Given the description of an element on the screen output the (x, y) to click on. 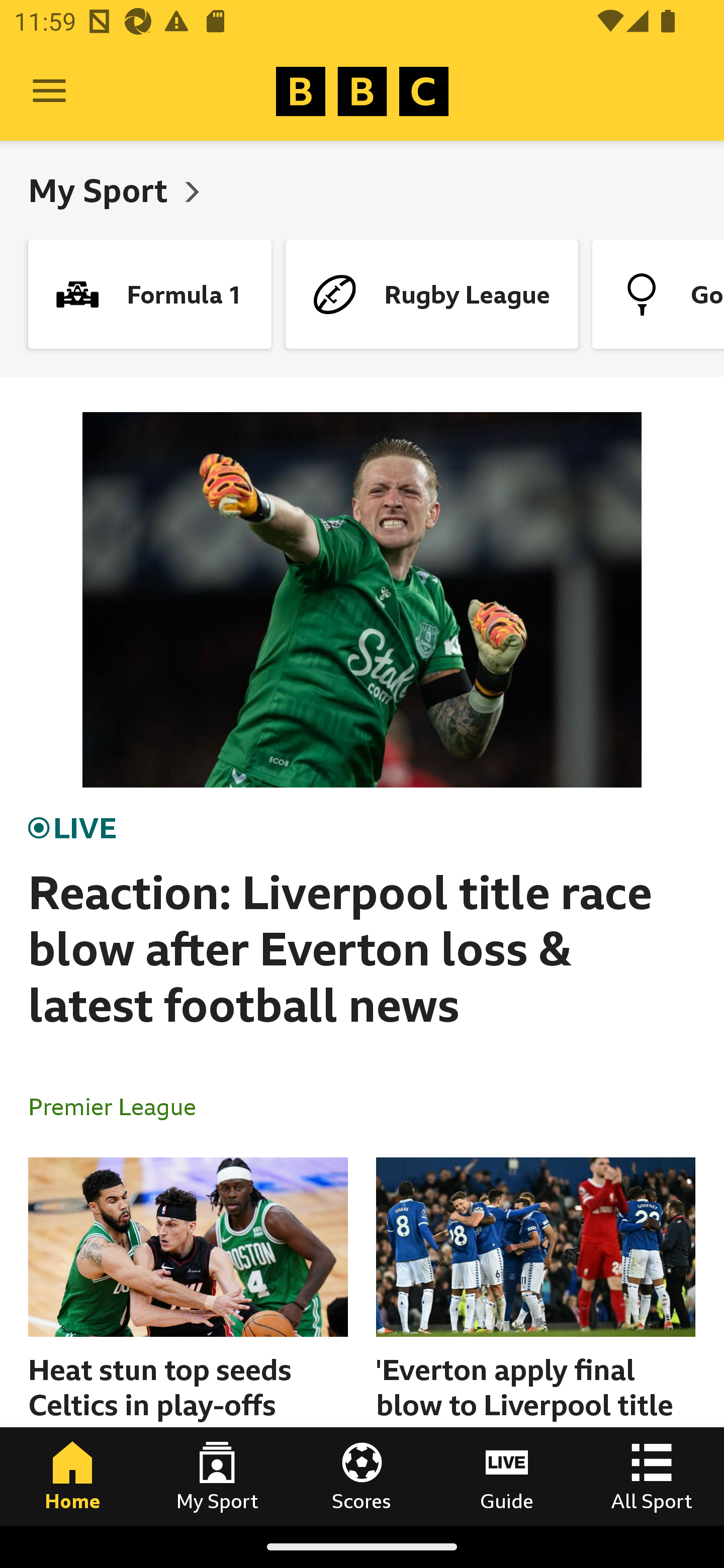
Open Menu (49, 91)
My Sport (101, 190)
Premier League In the section Premier League (119, 1106)
My Sport (216, 1475)
Scores (361, 1475)
Guide (506, 1475)
All Sport (651, 1475)
